Given the description of an element on the screen output the (x, y) to click on. 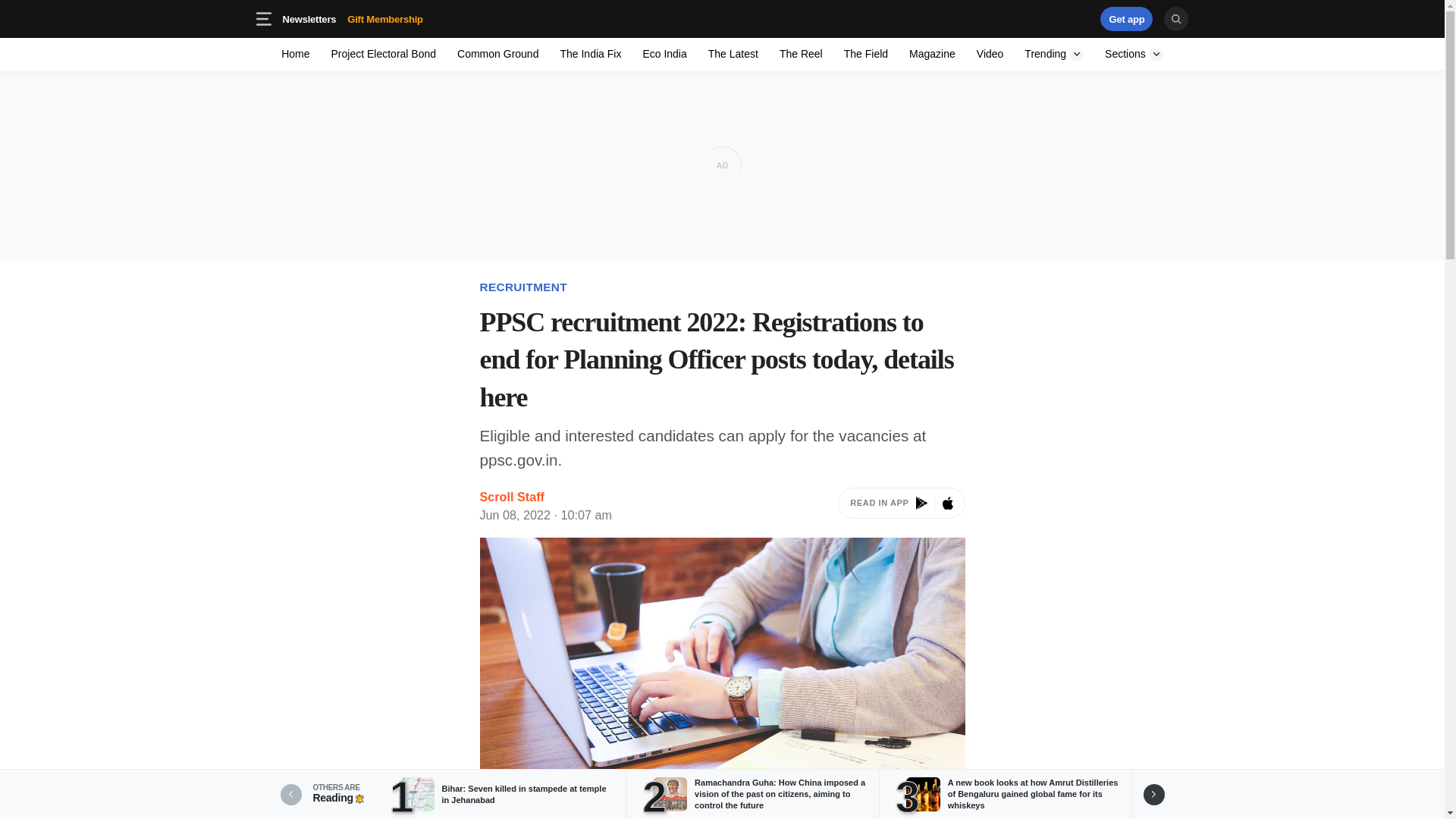
Trending (409, 18)
Get app (1053, 53)
The Latest (1035, 18)
The India Fix (732, 53)
The Reel (352, 18)
Gift Membership (590, 53)
Get app (721, 18)
